Given the description of an element on the screen output the (x, y) to click on. 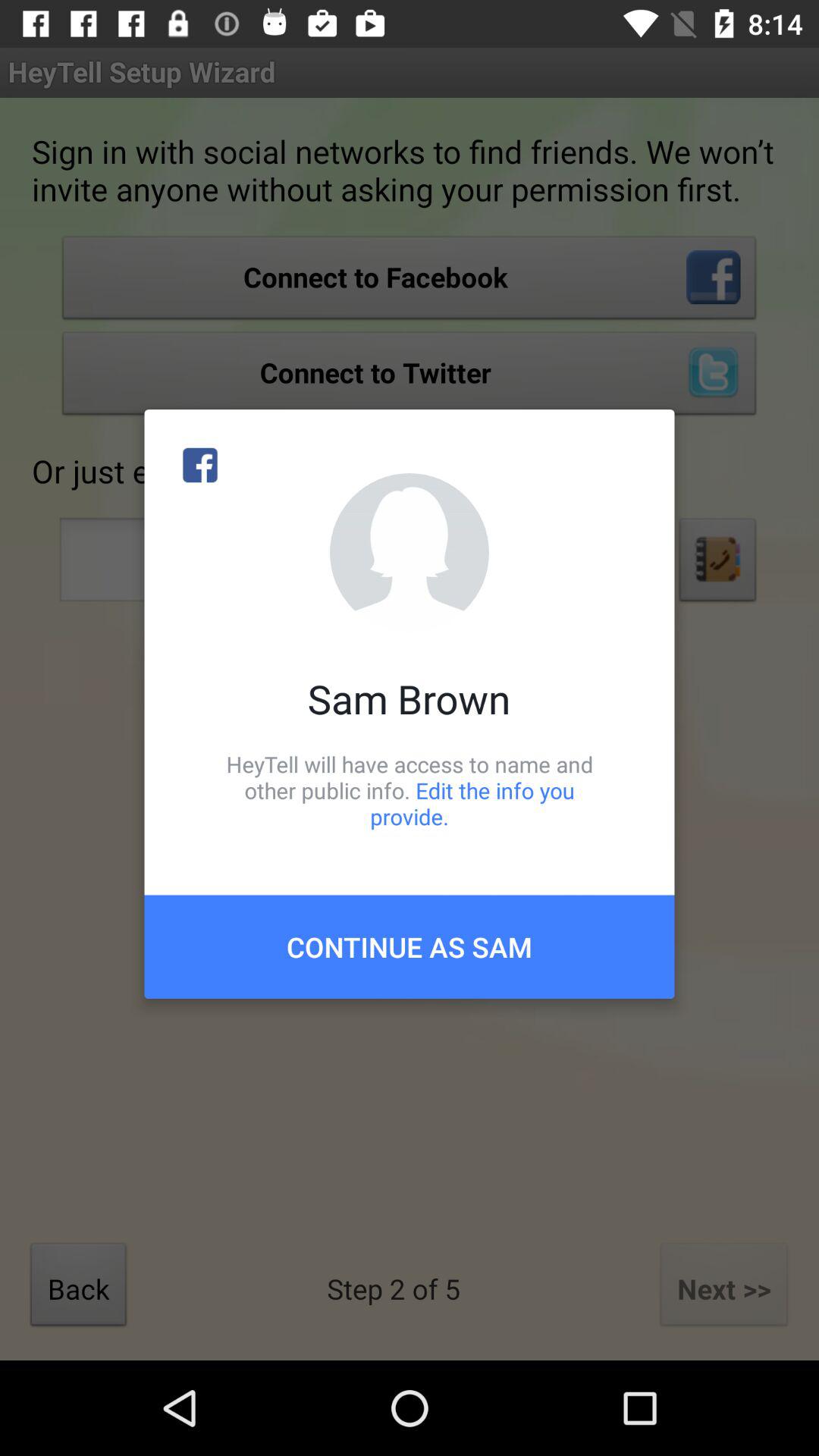
tap the icon below heytell will have (409, 946)
